Given the description of an element on the screen output the (x, y) to click on. 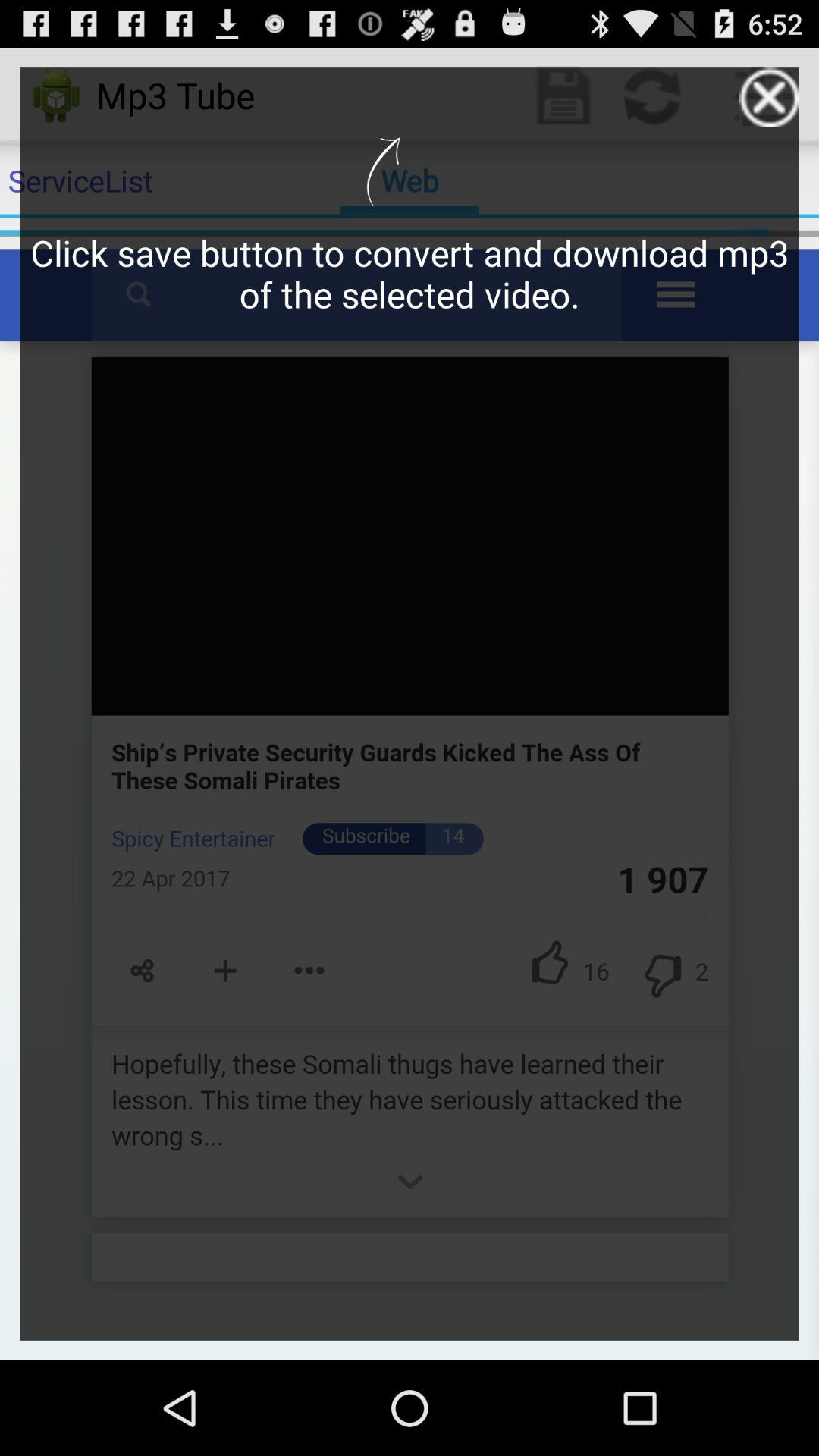
choose app above click save button icon (769, 97)
